Given the description of an element on the screen output the (x, y) to click on. 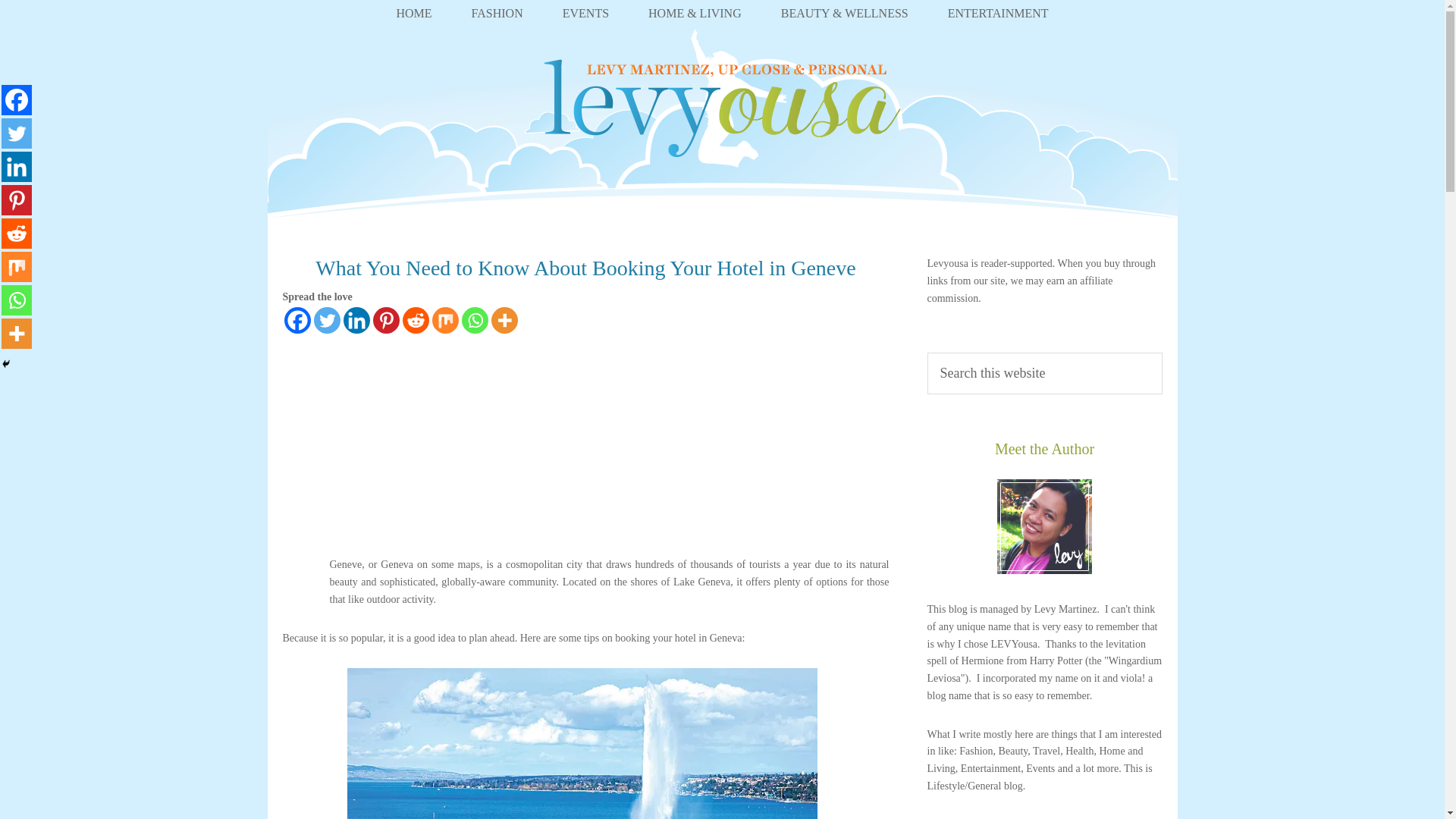
Reddit (414, 320)
Facebook (296, 320)
Twitter (327, 320)
ENTERTAINMENT (998, 9)
Whatsapp (474, 320)
Mix (445, 320)
Linkedin (355, 320)
HOME (413, 9)
